Given the description of an element on the screen output the (x, y) to click on. 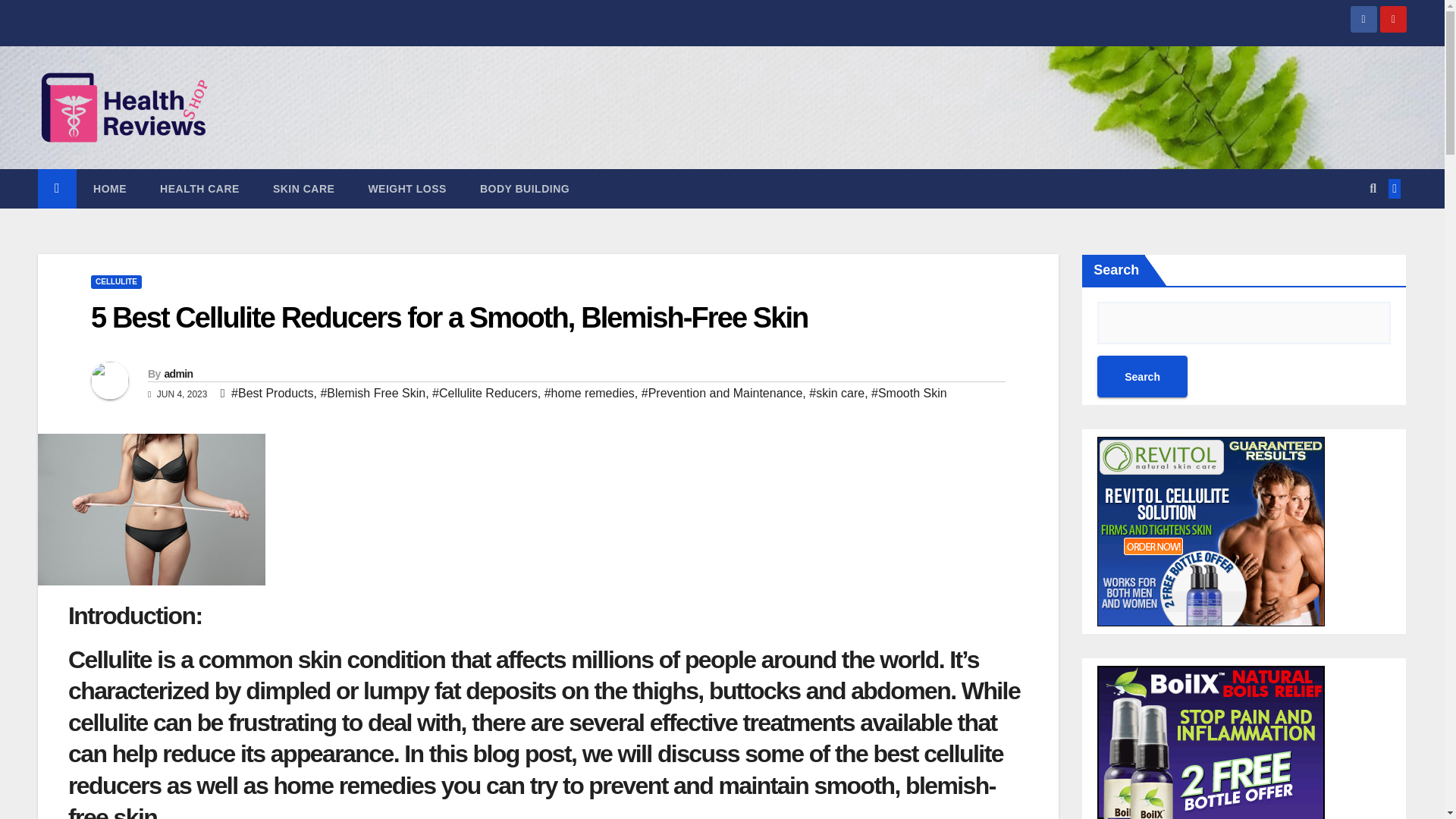
Body Building (524, 188)
Skin Care (304, 188)
HEALTH CARE (199, 188)
Home (109, 188)
5 Best Cellulite Reducers for a Smooth, Blemish-Free Skin (449, 317)
BODY BUILDING (524, 188)
admin (177, 373)
HOME (109, 188)
WEIGHT LOSS (406, 188)
CELLULITE (115, 282)
Health Care (199, 188)
Weight Loss (406, 188)
SKIN CARE (304, 188)
